Given the description of an element on the screen output the (x, y) to click on. 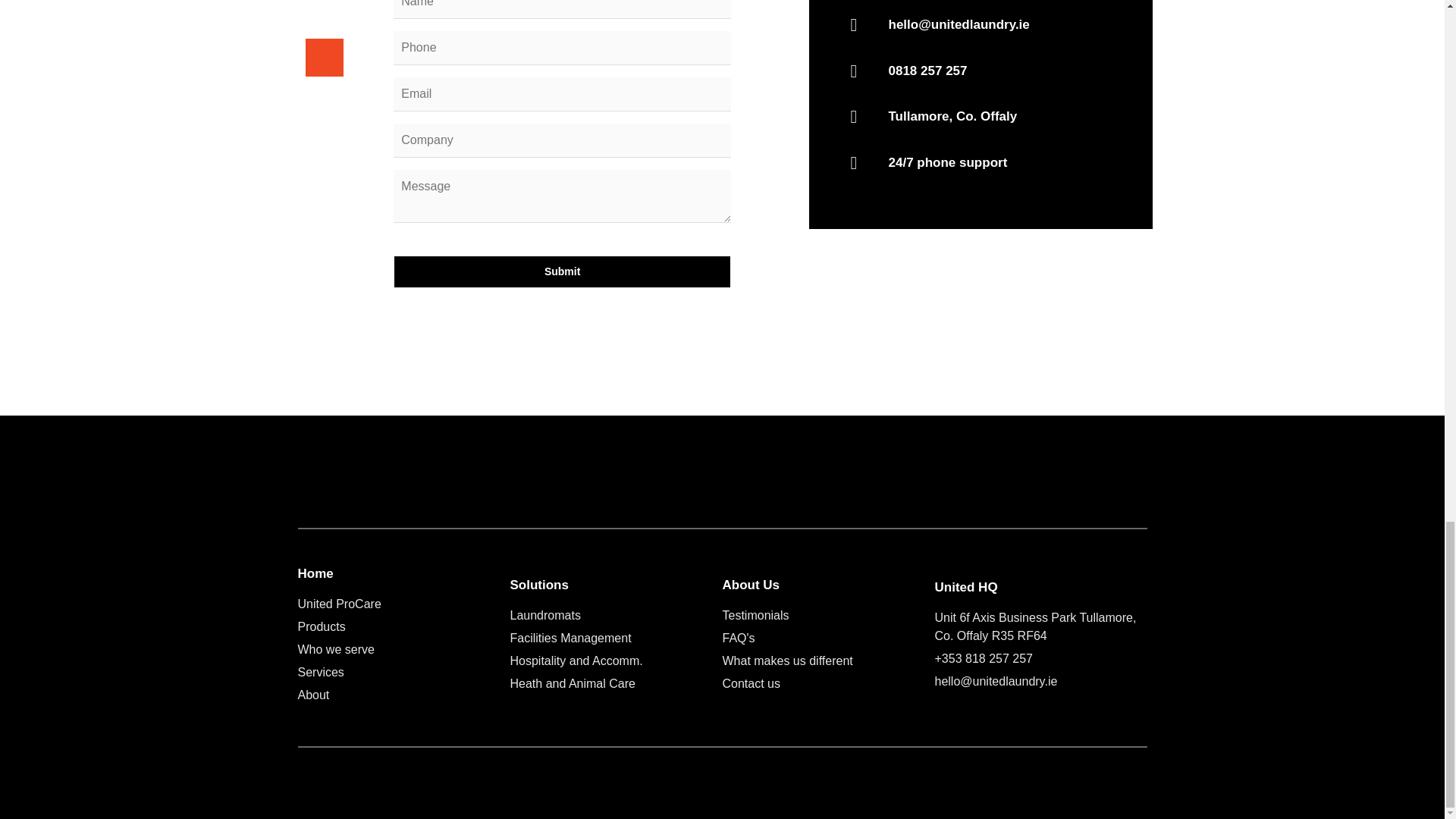
Products (403, 627)
Who we serve (403, 649)
0818 257 257 (981, 71)
United ProCare (403, 604)
Submit (561, 271)
Services (403, 672)
Submit (561, 271)
